Given the description of an element on the screen output the (x, y) to click on. 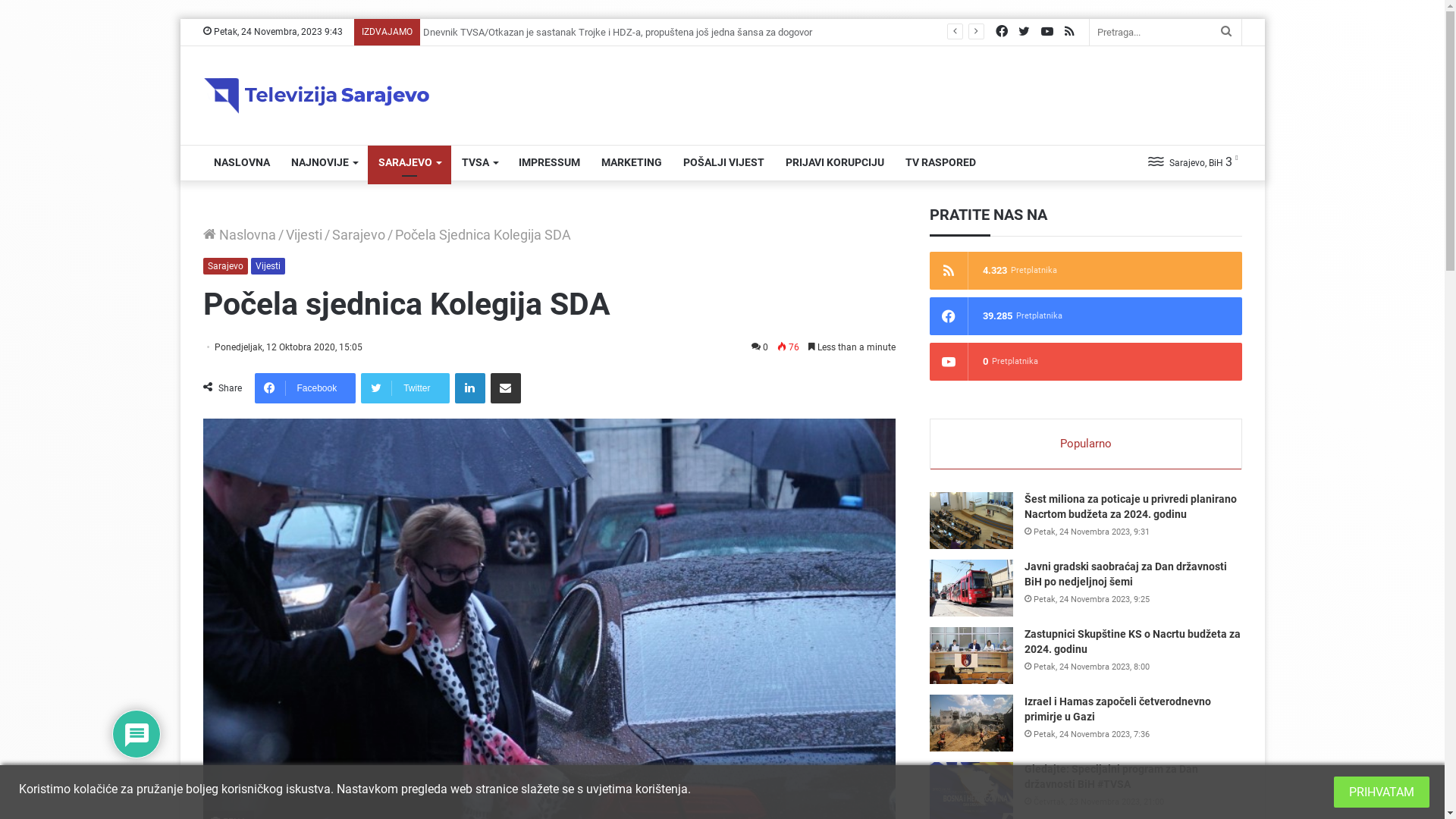
IMPRESSUM Element type: text (549, 162)
SARAJEVO Element type: text (408, 162)
TVSA Element type: text (478, 162)
39.285
Pretplatnika Element type: text (1085, 316)
Sarajevo Element type: text (358, 234)
Popularno Element type: text (1085, 444)
Pretraga... Element type: hover (1164, 31)
0
Pretplatnika Element type: text (1085, 361)
MARKETING Element type: text (630, 162)
Naslovna Element type: text (239, 234)
PRIHVATAM Element type: text (1381, 791)
Twitter Element type: text (404, 388)
NASLOVNA Element type: text (241, 162)
4.323
Pretplatnika Element type: text (1085, 270)
Sarajevo Element type: text (225, 265)
TV RASPORED Element type: text (940, 162)
Facebook Element type: text (305, 388)
Share via Email Element type: hover (505, 388)
PRIJAVI KORUPCIJU Element type: text (834, 162)
LinkedIn Element type: hover (470, 388)
NAJNOVIJE Element type: text (323, 162)
Vijesti Element type: text (267, 265)
TVSA.BA Element type: hover (316, 95)
Vijesti Element type: text (303, 234)
